Given the description of an element on the screen output the (x, y) to click on. 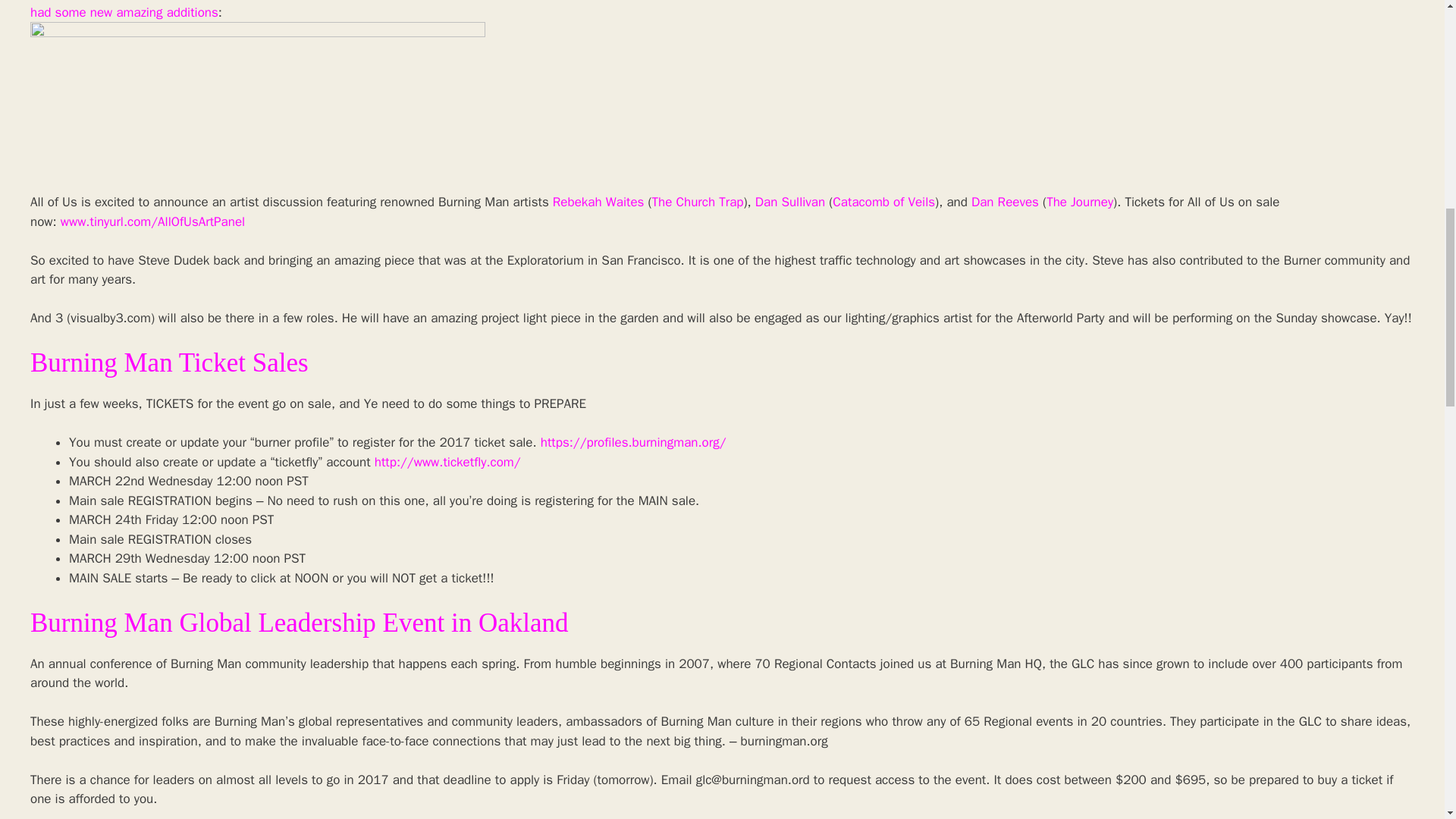
Catacomb of Veils (883, 201)
Dan Sullivan (790, 201)
Rebekah Waites (599, 201)
Dan Reeves (1005, 201)
The Journey (1079, 201)
The Church Trap (698, 201)
